Given the description of an element on the screen output the (x, y) to click on. 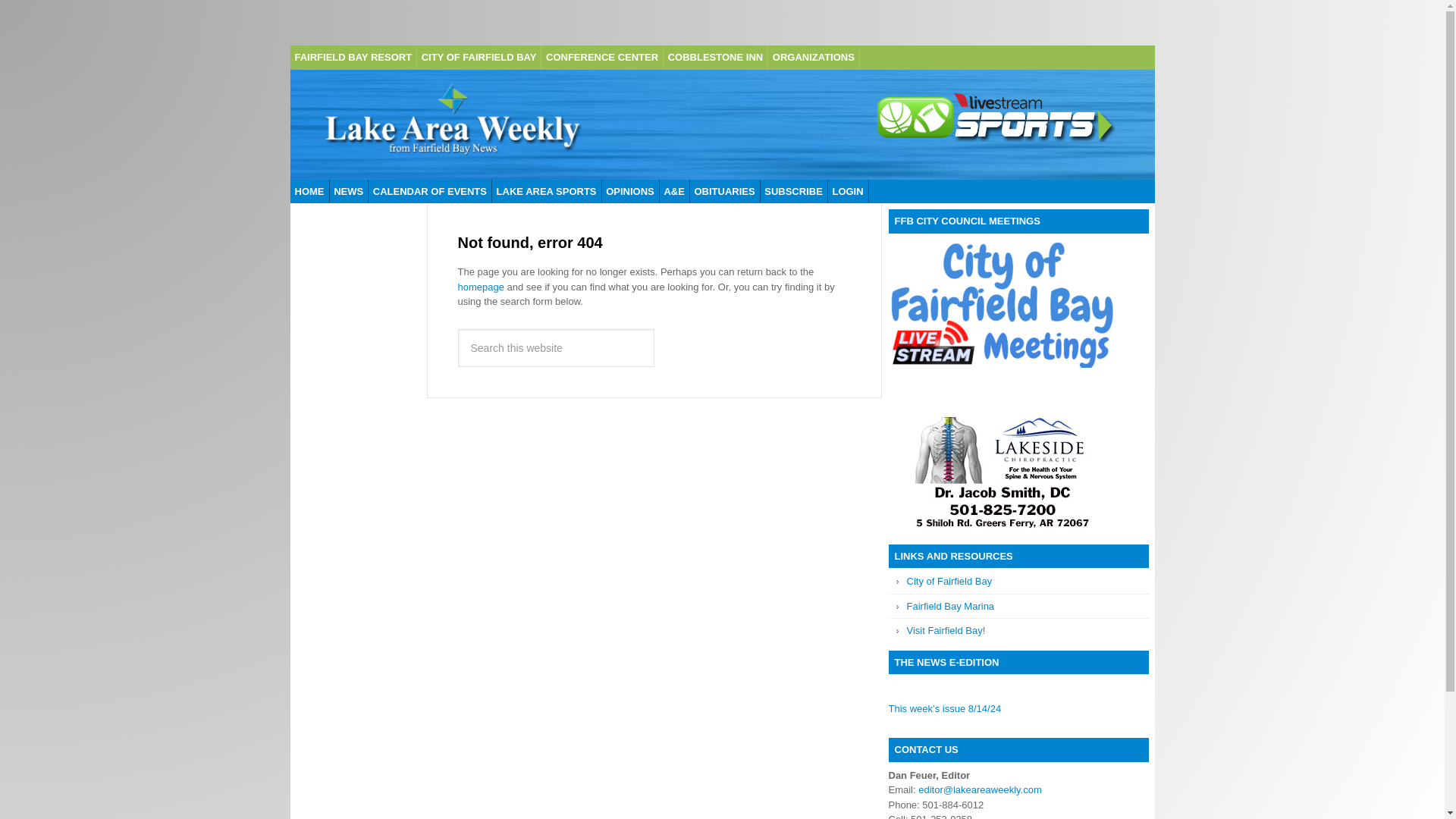
CONFERENCE CENTER (602, 57)
OBITUARIES (724, 191)
FAIRFIELD BAY RESORT (352, 57)
CITY OF FAIRFIELD BAY (478, 57)
NEWS (348, 191)
HOME (309, 191)
COBBLESTONE INN (715, 57)
LAKE AREA WEEKLY (452, 123)
OPINIONS (630, 191)
